Given the description of an element on the screen output the (x, y) to click on. 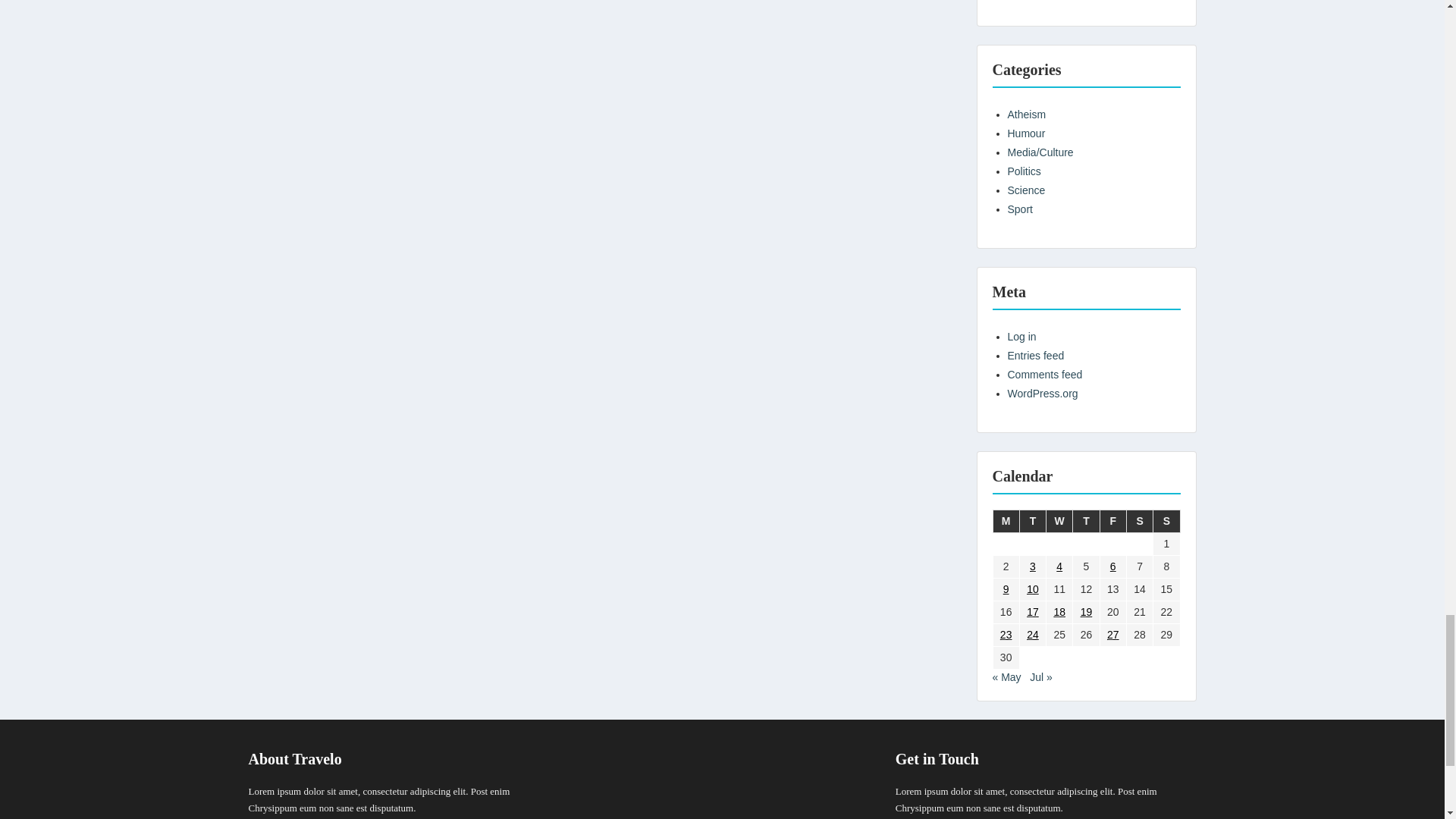
Thursday (1086, 520)
Tuesday (1032, 520)
Wednesday (1059, 520)
Sunday (1166, 520)
Monday (1005, 520)
Friday (1112, 520)
Saturday (1139, 520)
